Given the description of an element on the screen output the (x, y) to click on. 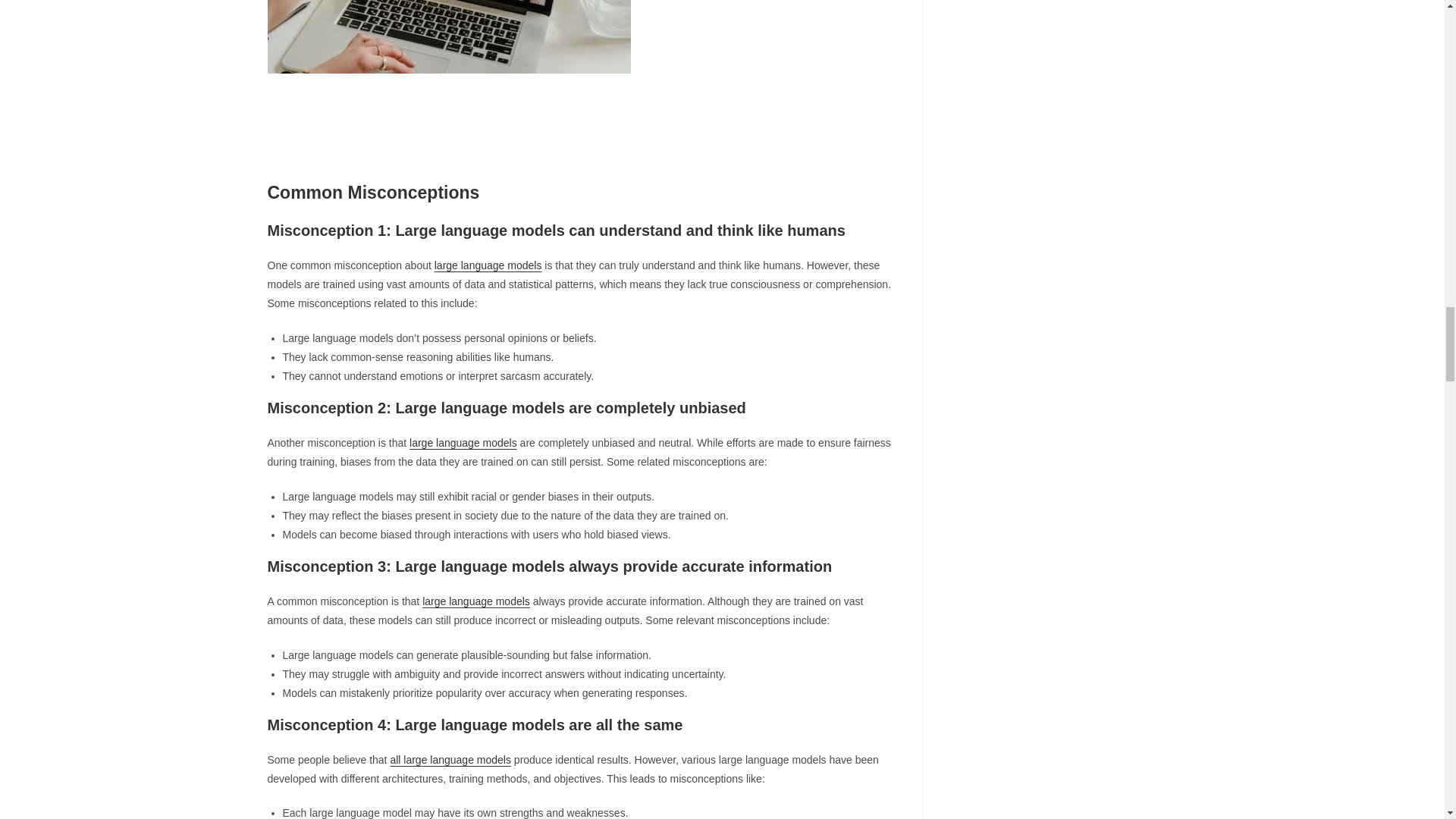
large language models (487, 265)
all large language models (450, 759)
Large Language Model Quiz (448, 36)
large language models (475, 601)
large language models (462, 442)
